Given the description of an element on the screen output the (x, y) to click on. 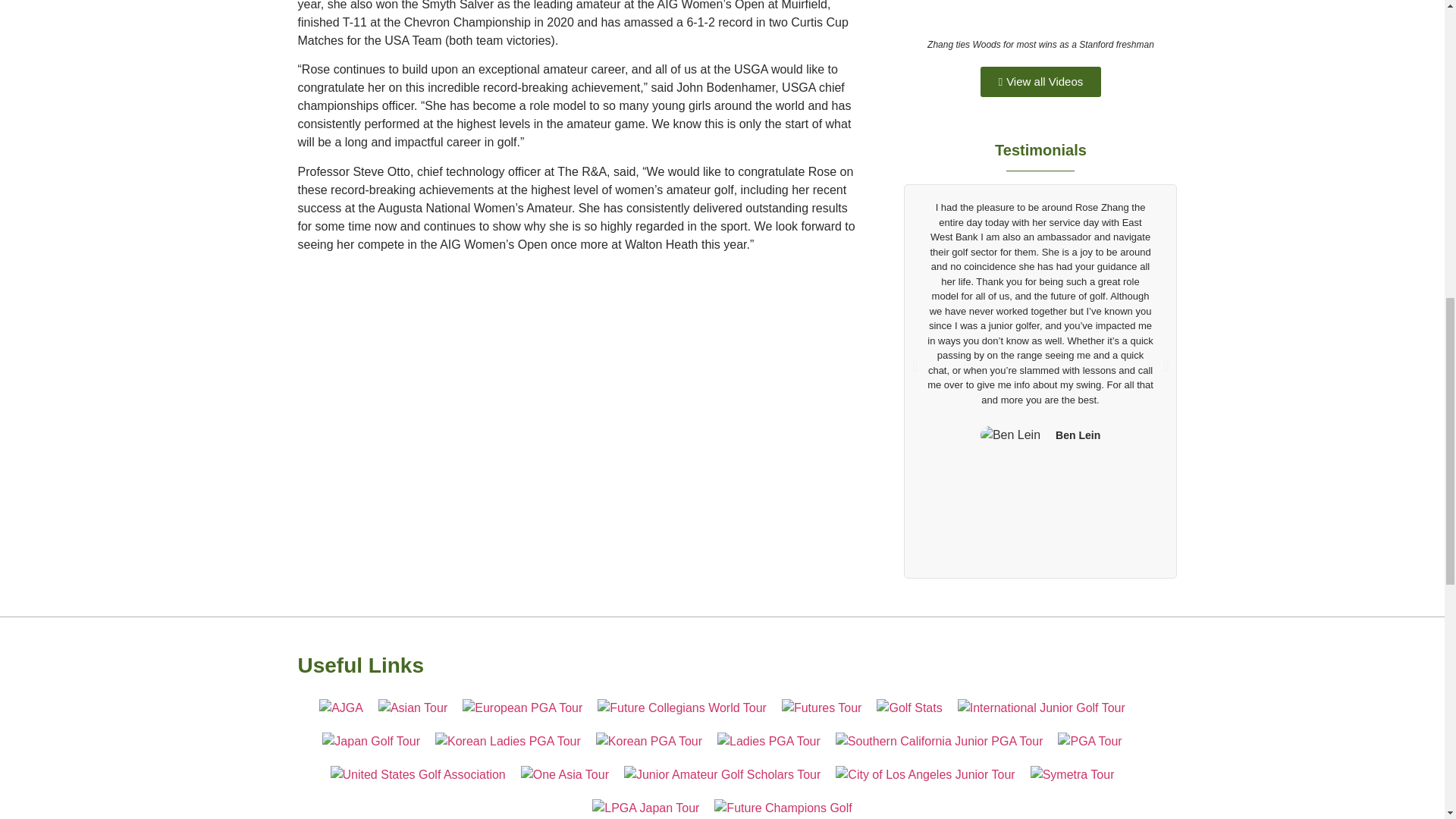
Golf Stats (909, 708)
European PGA Tour (522, 708)
Southern California Junior PGA Tour (939, 741)
PGA Tour (1089, 741)
International Junior Golf Tour (1041, 708)
AJGA (340, 708)
Korean Ladies PGA Tour (507, 741)
Korean PGA Tour (648, 741)
Ladies PGA Tour (769, 741)
Future Collegians World Tour (681, 708)
